Given the description of an element on the screen output the (x, y) to click on. 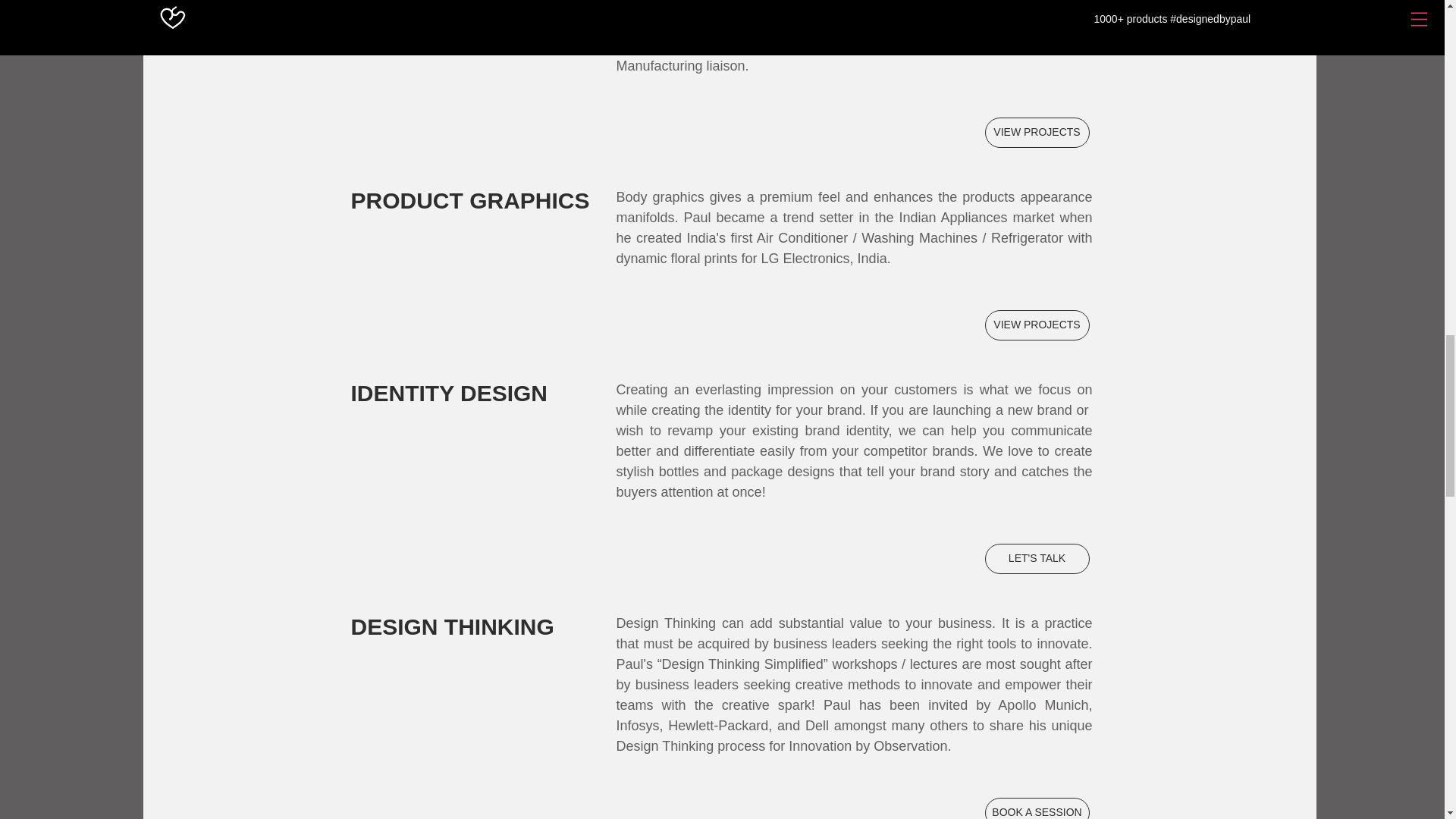
VIEW PROJECTS (1036, 325)
VIEW PROJECTS (1036, 132)
LET'S TALK (1036, 558)
BOOK A SESSION (1036, 808)
